Given the description of an element on the screen output the (x, y) to click on. 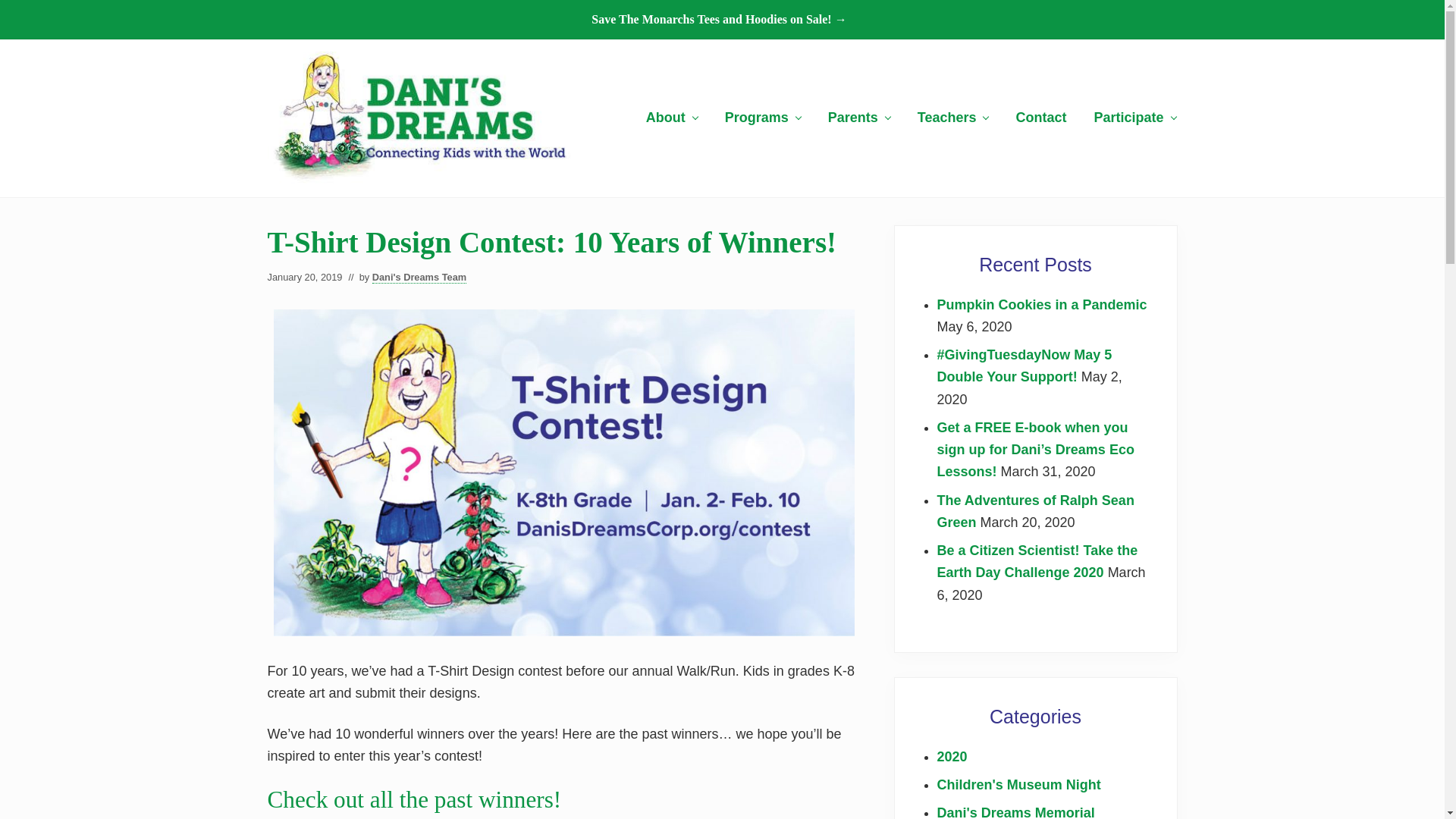
Contact (1040, 117)
Teachers (953, 117)
Programs (762, 117)
Parents (858, 117)
About (671, 117)
Participate (1134, 117)
